Given the description of an element on the screen output the (x, y) to click on. 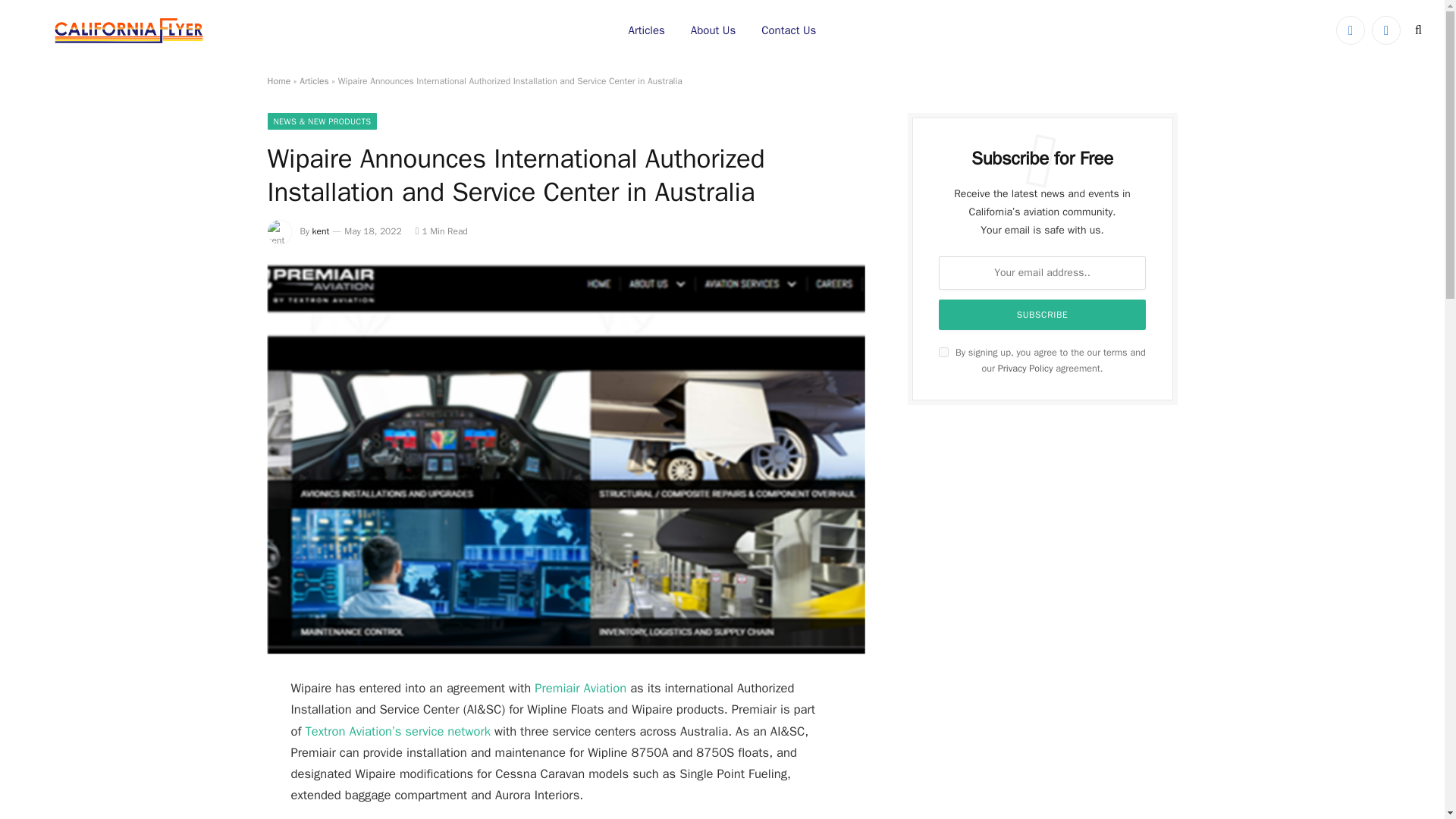
on (944, 352)
Posts by kent (321, 231)
Articles (646, 30)
Contact Us (788, 30)
About Us (713, 30)
Premiair Aviation (580, 688)
kent (321, 231)
Subscribe (1043, 314)
Facebook (1350, 30)
